Given the description of an element on the screen output the (x, y) to click on. 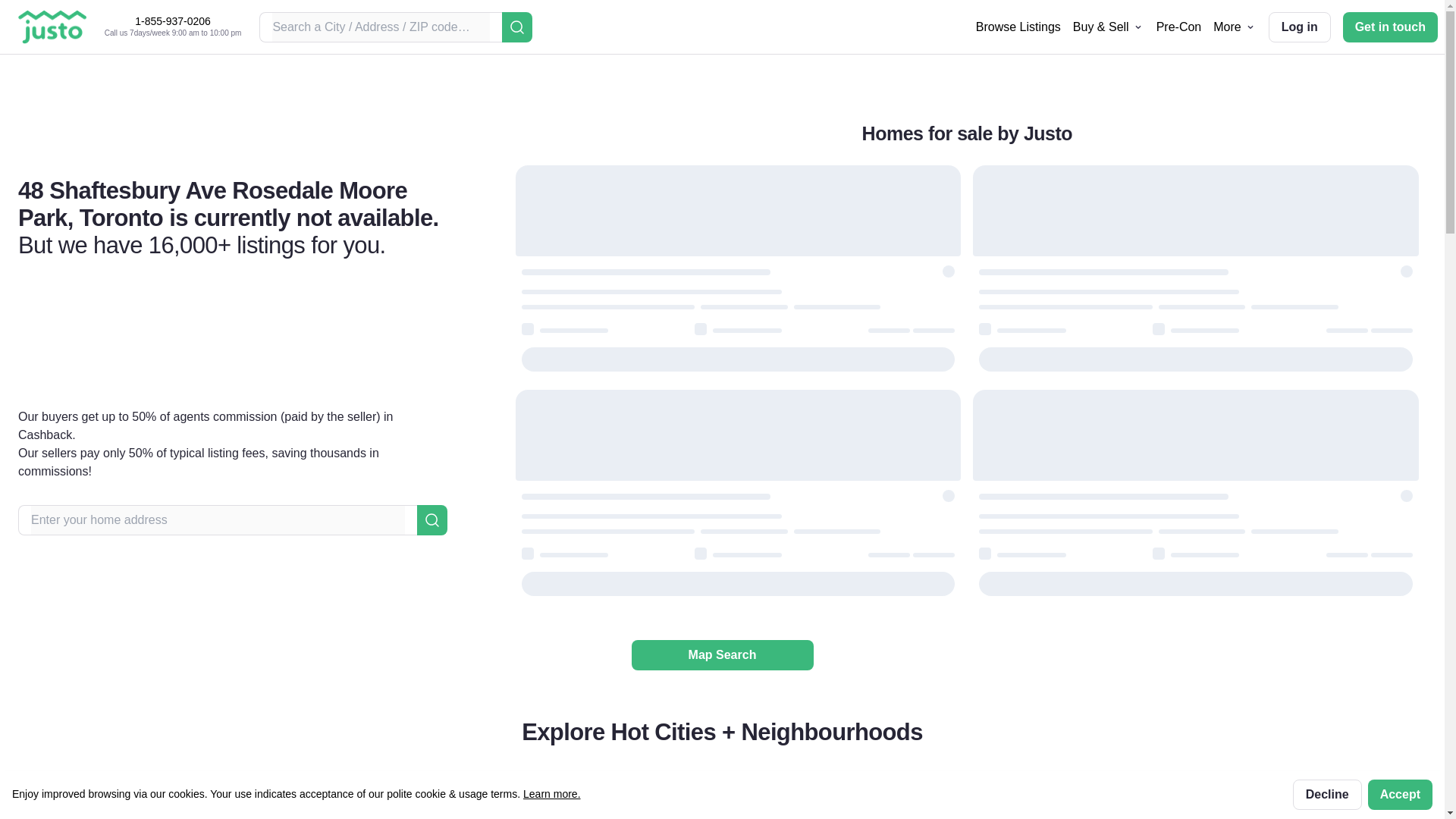
Browse Listings (1018, 25)
Map Search (721, 654)
Log in (1299, 27)
More (1233, 27)
Pre-Con (1179, 25)
Get in touch (1390, 27)
